Given the description of an element on the screen output the (x, y) to click on. 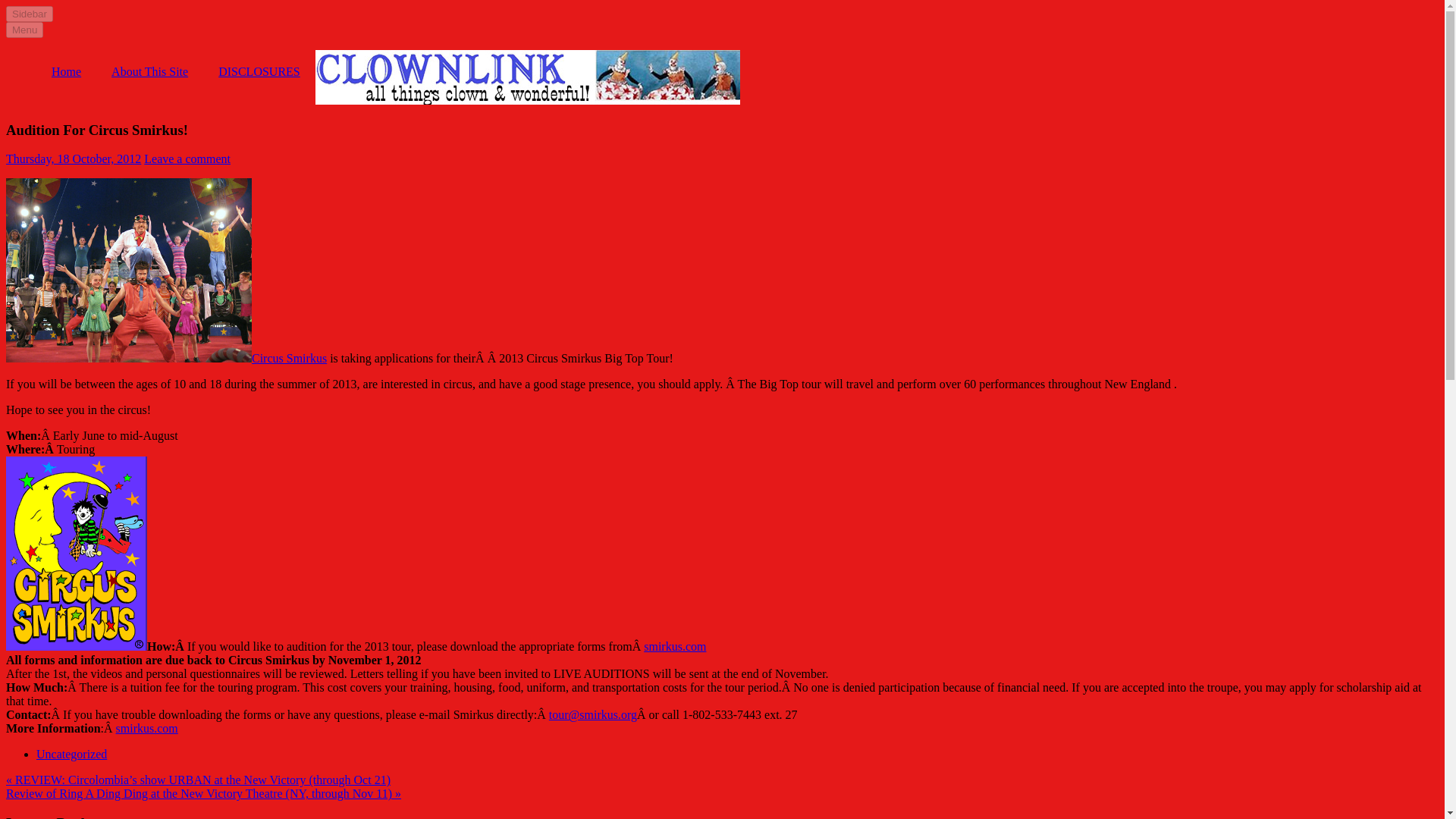
NPR Story about Circus Smirkus: Training Clowns On Tour (165, 358)
Circus Smirkus (165, 358)
Uncategorized (71, 753)
11:11 am (73, 158)
About This Site (149, 71)
Home (65, 71)
Menu (24, 29)
Smirkus Pyramid (128, 270)
DISCLOSURES (258, 71)
smirkus.com (146, 727)
Sidebar (28, 13)
smirkus.com (674, 645)
Thursday, 18 October, 2012 (73, 158)
Leave a comment (187, 158)
